Given the description of an element on the screen output the (x, y) to click on. 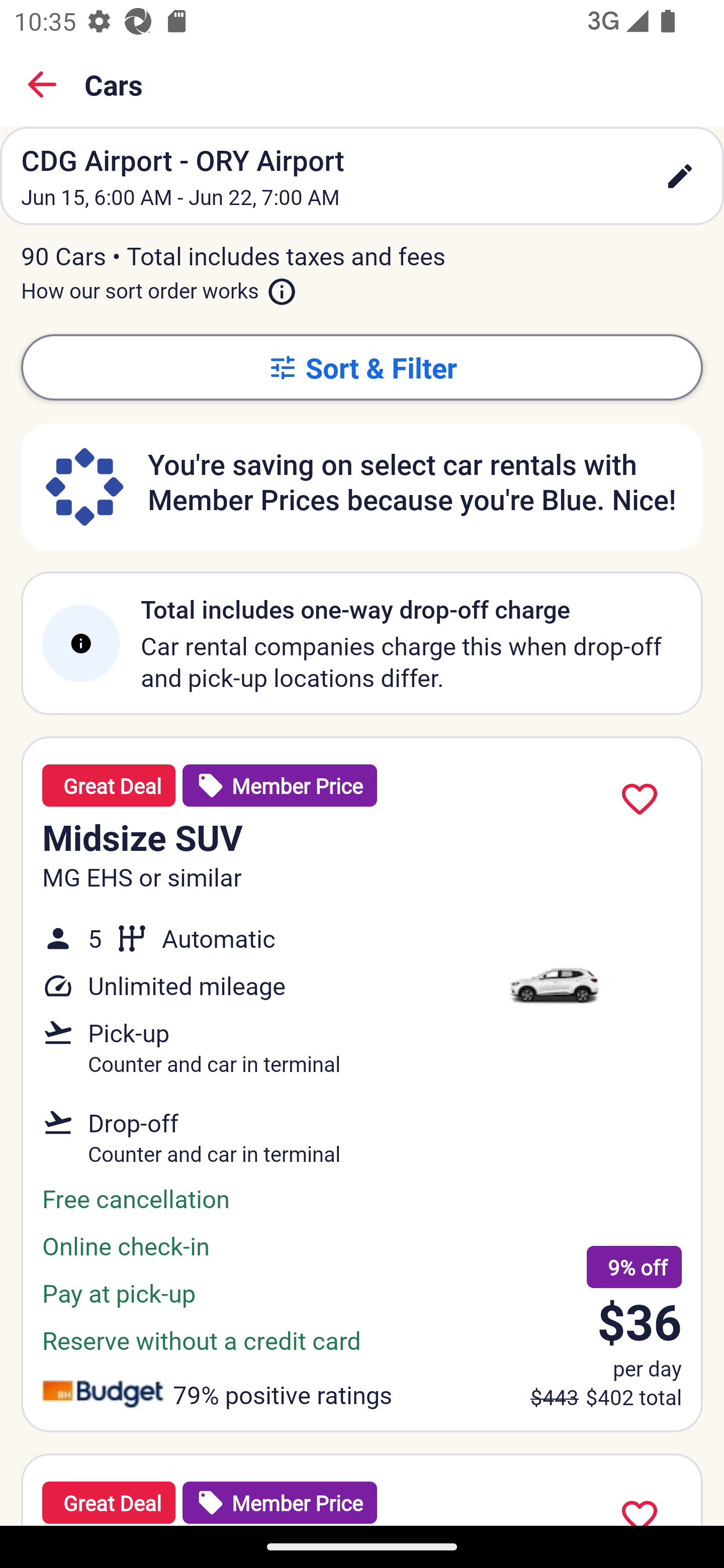
Back (42, 84)
edit (679, 175)
How our sort order works (158, 286)
Sort & Filter (361, 366)
